Given the description of an element on the screen output the (x, y) to click on. 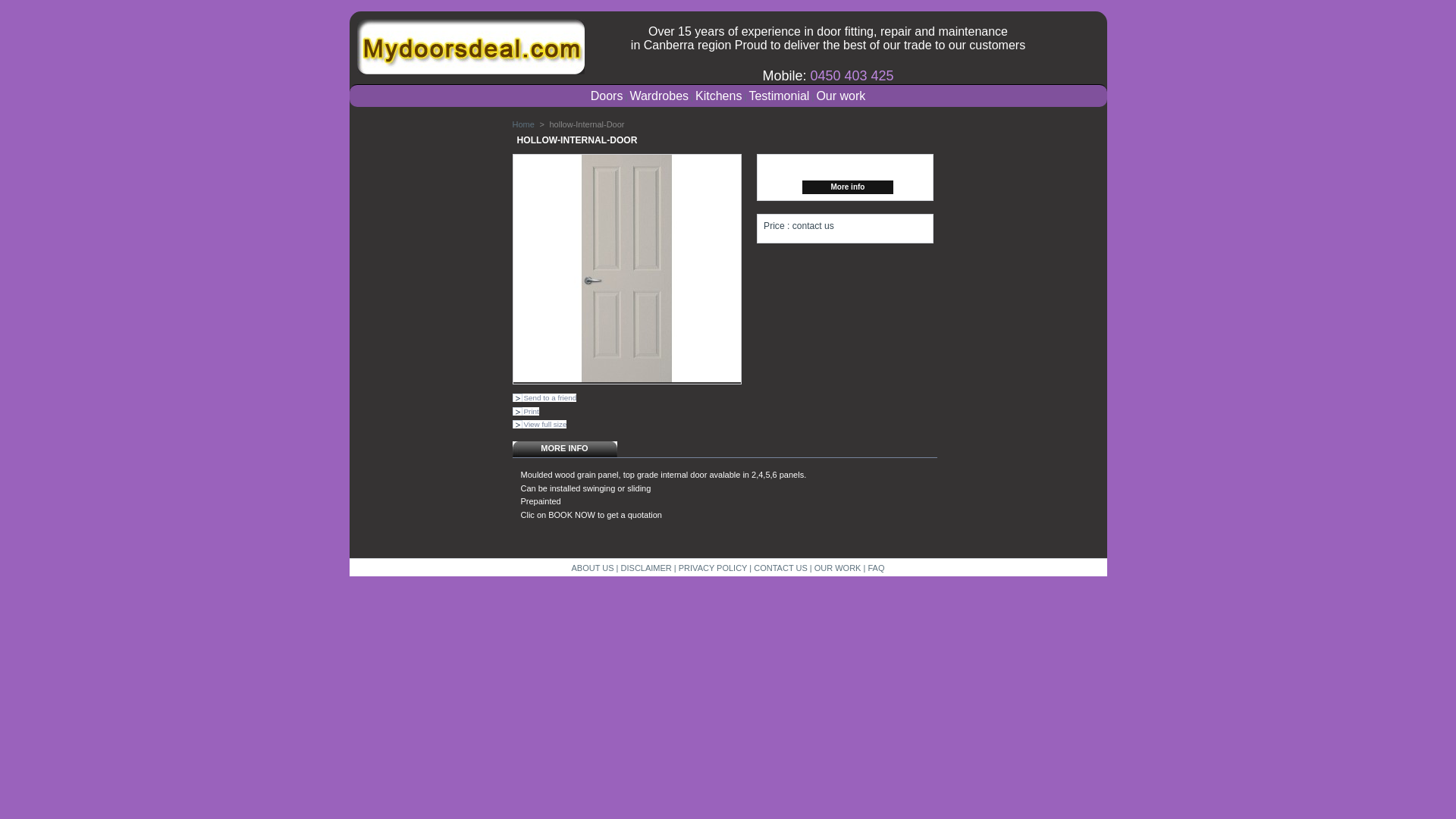
CONTACT US Element type: text (780, 567)
Kitchens Element type: text (718, 96)
Send to a friend Element type: text (544, 397)
Doors Element type: text (606, 96)
Wardrobes Element type: text (658, 96)
PRIVACY POLICY Element type: text (712, 567)
ABOUT US Element type: text (592, 567)
Our work Element type: text (840, 96)
Print Element type: text (525, 411)
FAQ Element type: text (875, 567)
OUR WORK Element type: text (837, 567)
Home Element type: text (523, 123)
MORE INFO Element type: text (564, 449)
More info Element type: text (847, 187)
hollow-Internal-Door Element type: hover (626, 268)
Testimonial Element type: text (778, 96)
DISCLAIMER Element type: text (646, 567)
My doors deal Element type: hover (448, 46)
